Given the description of an element on the screen output the (x, y) to click on. 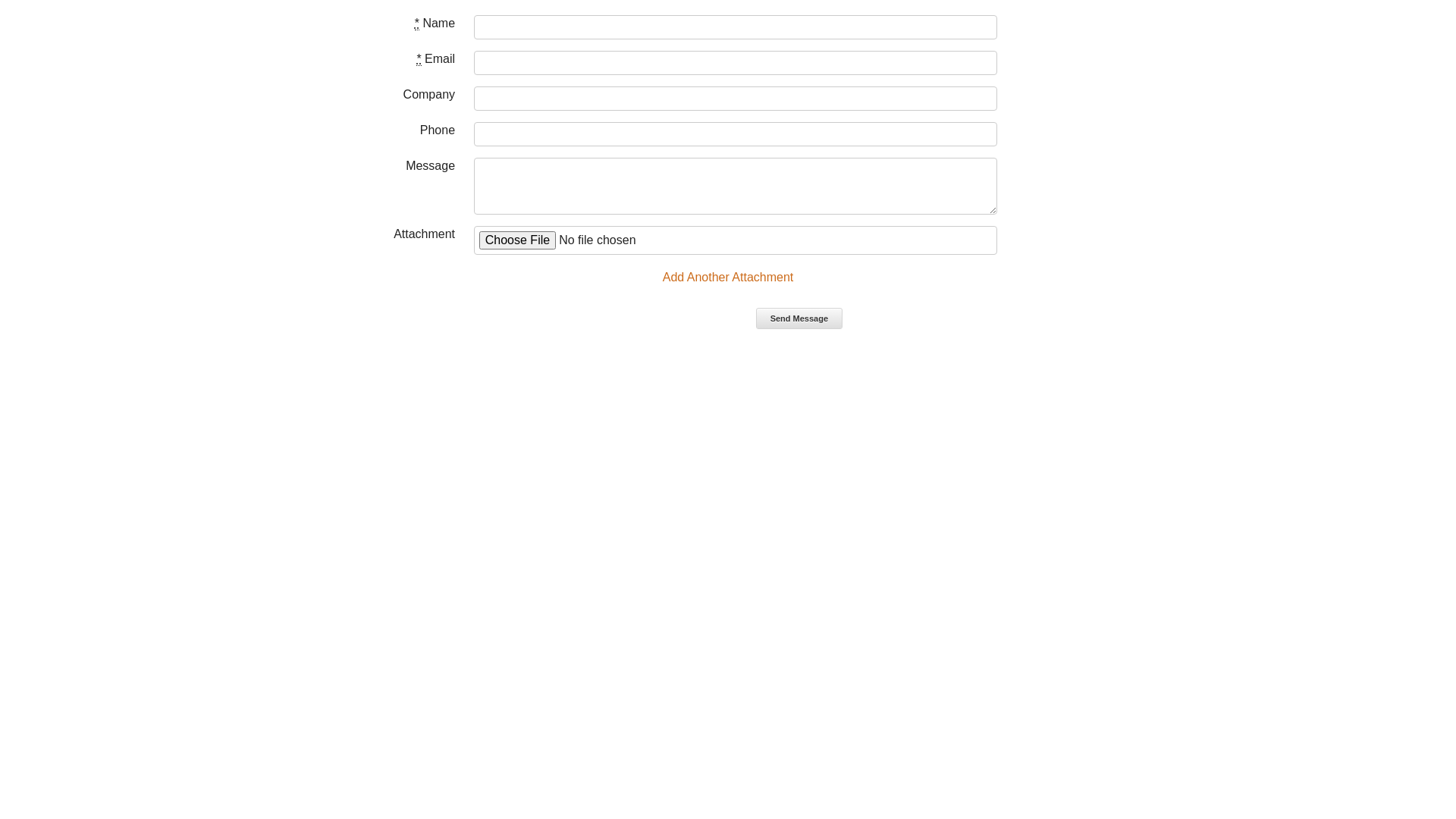
Send Message Element type: text (799, 318)
Add Another Attachment Element type: text (727, 276)
